Given the description of an element on the screen output the (x, y) to click on. 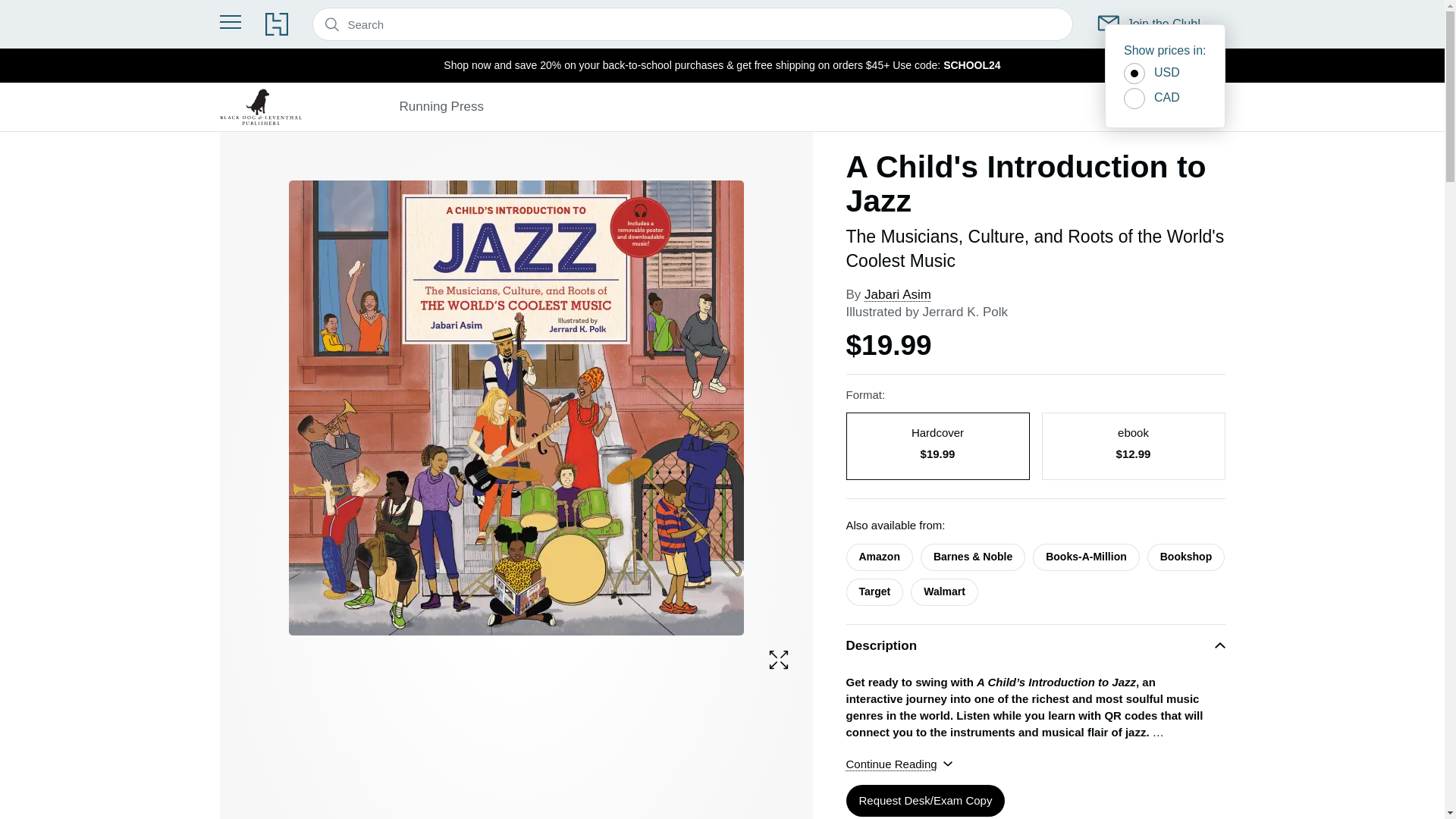
Running Press (441, 106)
Go to Hachette Book Group home (276, 24)
Join the Club! (1149, 24)
Jabari Asim (897, 294)
Open the full-size image (778, 659)
Amazon (878, 556)
Books-A-Million (1086, 556)
